Given the description of an element on the screen output the (x, y) to click on. 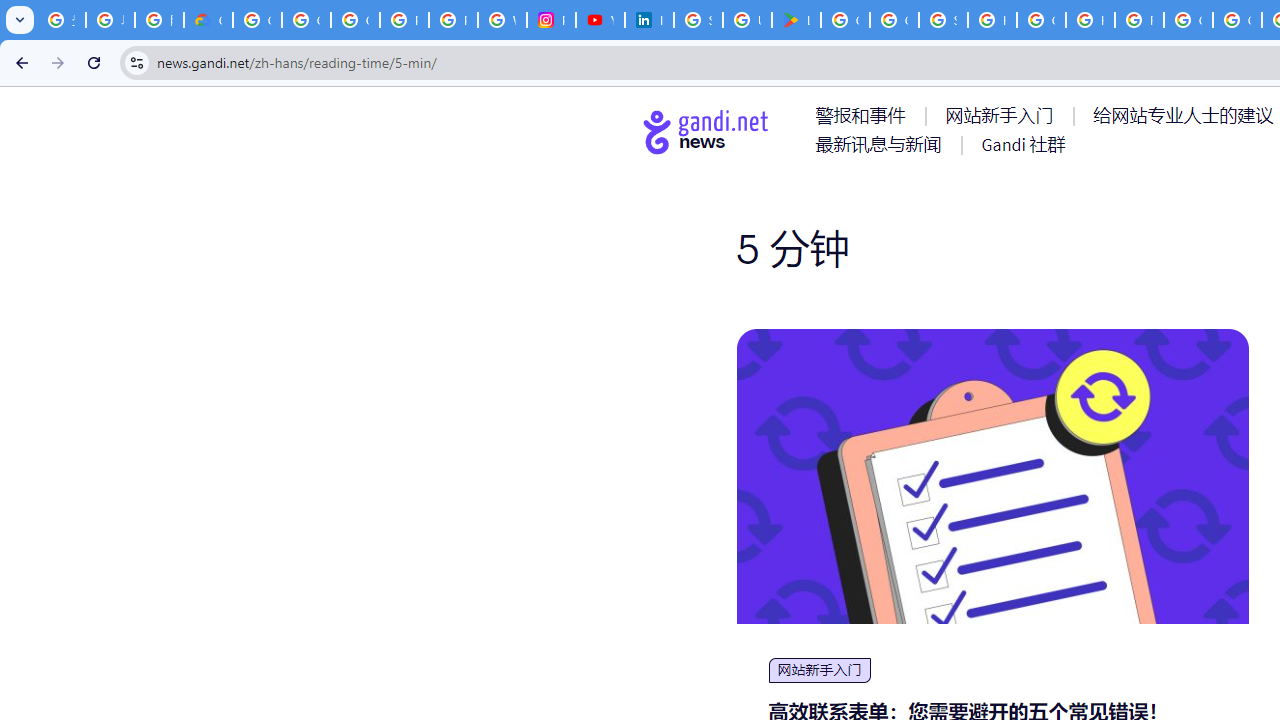
Last Shelter: Survival - Apps on Google Play (795, 20)
Sign in - Google Accounts (698, 20)
